Given the description of an element on the screen output the (x, y) to click on. 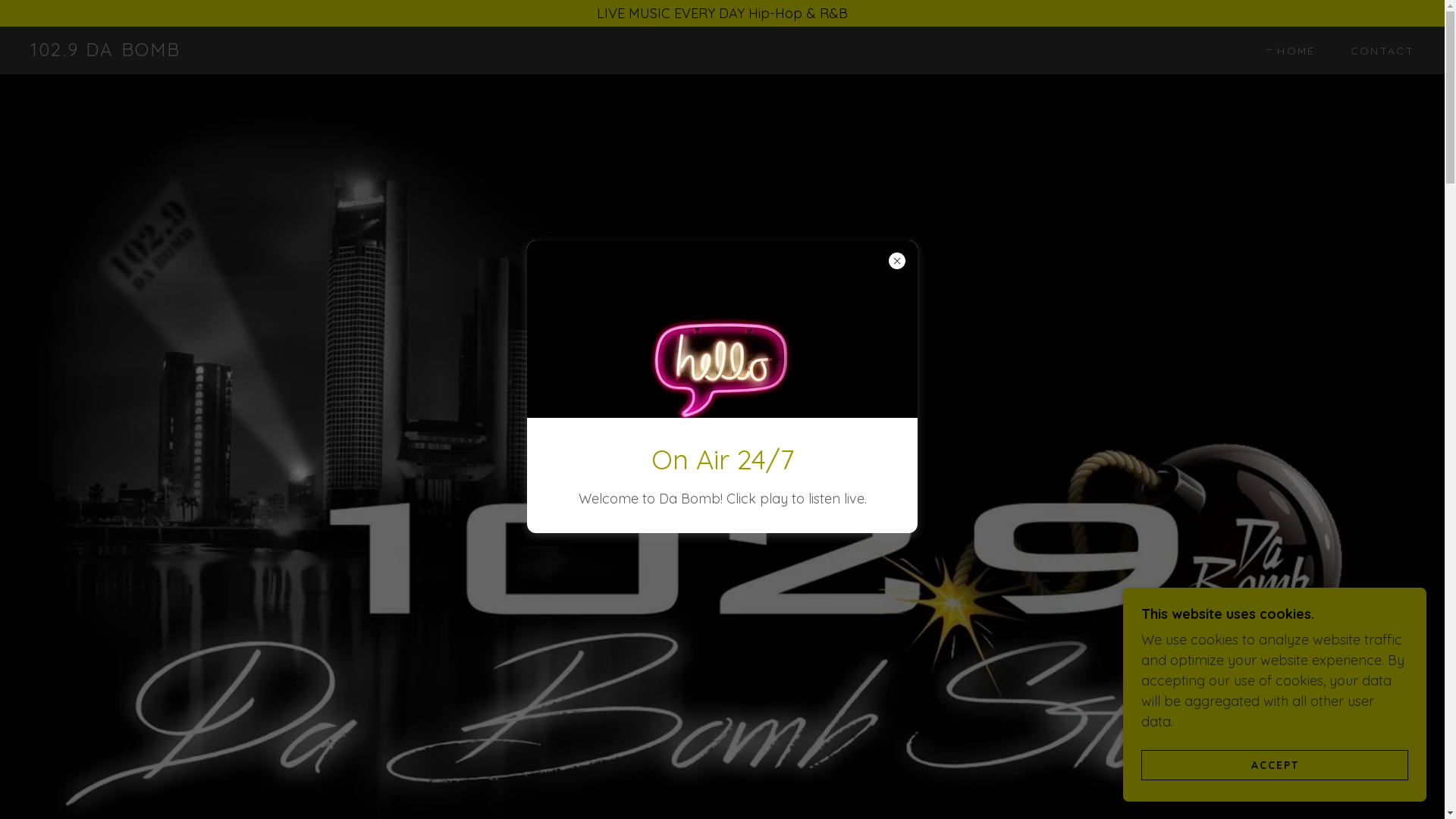
CONTACT Element type: text (1376, 49)
ACCEPT Element type: text (1274, 764)
102.9 DA BOMB Element type: text (105, 50)
HOME Element type: text (1290, 49)
